Given the description of an element on the screen output the (x, y) to click on. 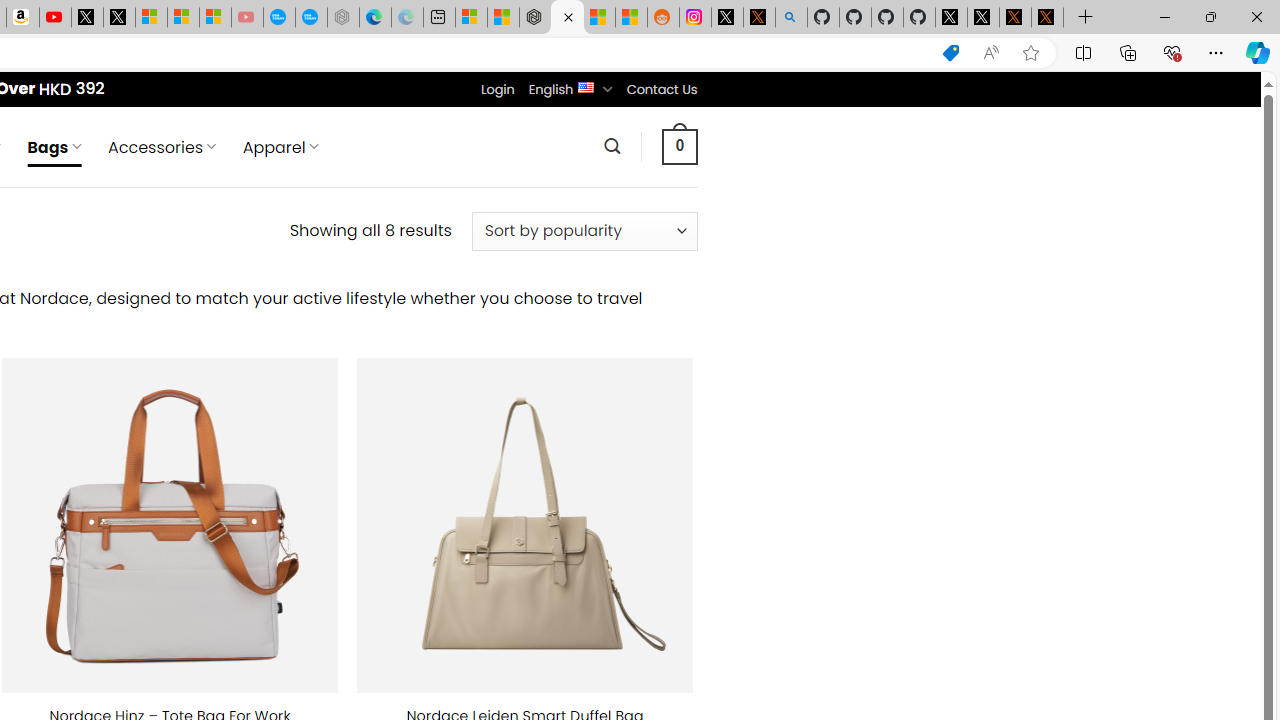
Opinion: Op-Ed and Commentary - USA TODAY (279, 17)
Shanghai, China Weather trends | Microsoft Weather (630, 17)
Shop order (584, 231)
Microsoft account | Microsoft Account Privacy Settings (471, 17)
Gloom - YouTube - Sleeping (246, 17)
Profile / X (950, 17)
